Given the description of an element on the screen output the (x, y) to click on. 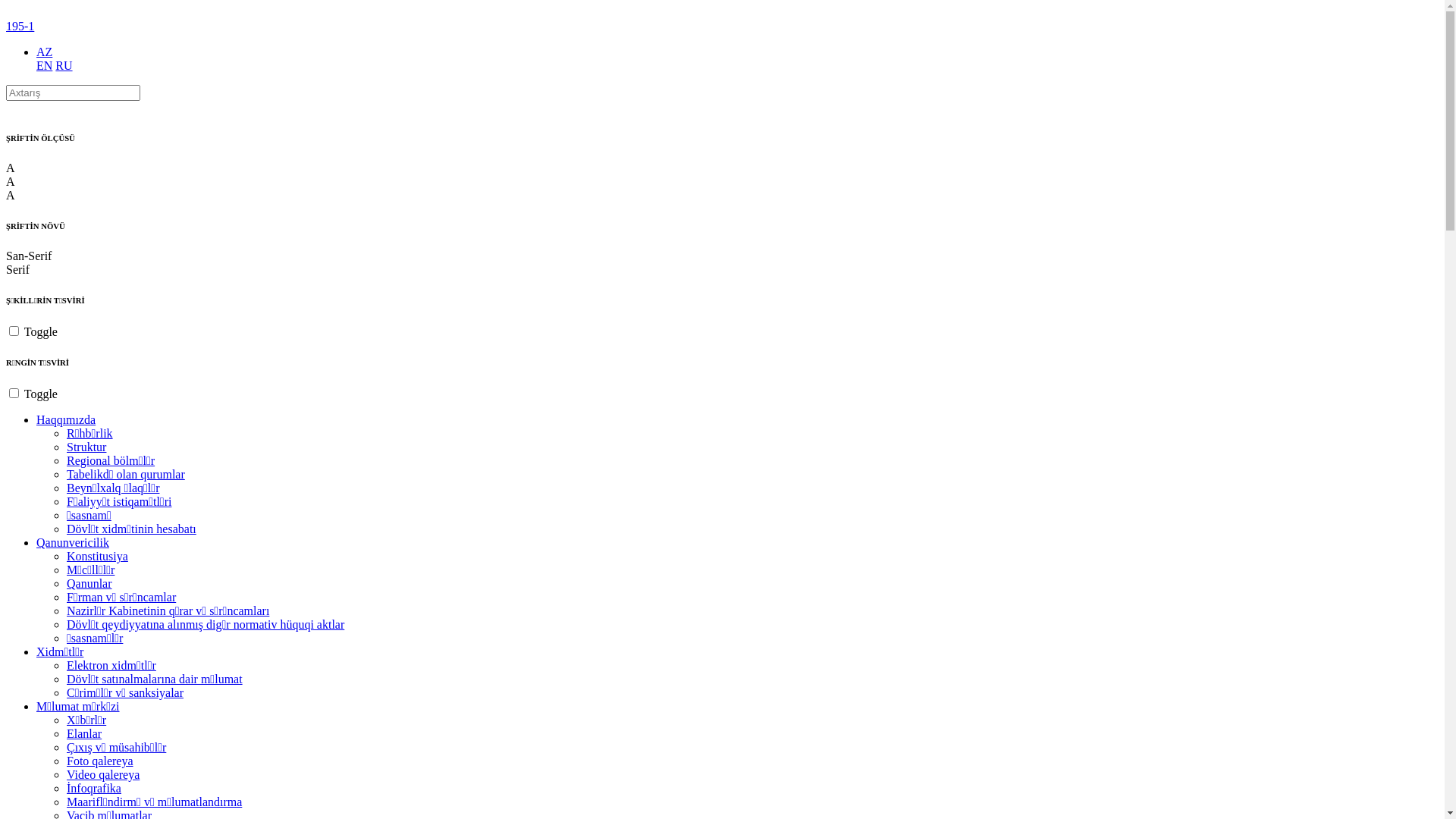
Video qalereya Element type: text (102, 774)
Foto qalereya Element type: text (99, 760)
EN Element type: text (44, 65)
AZ Element type: text (44, 51)
Struktur Element type: text (86, 446)
Konstitusiya Element type: text (97, 555)
Qanunvericilik Element type: text (72, 542)
Elanlar Element type: text (83, 733)
195-1 Element type: text (20, 25)
RU Element type: text (63, 65)
Qanunlar Element type: text (89, 583)
